Given the description of an element on the screen output the (x, y) to click on. 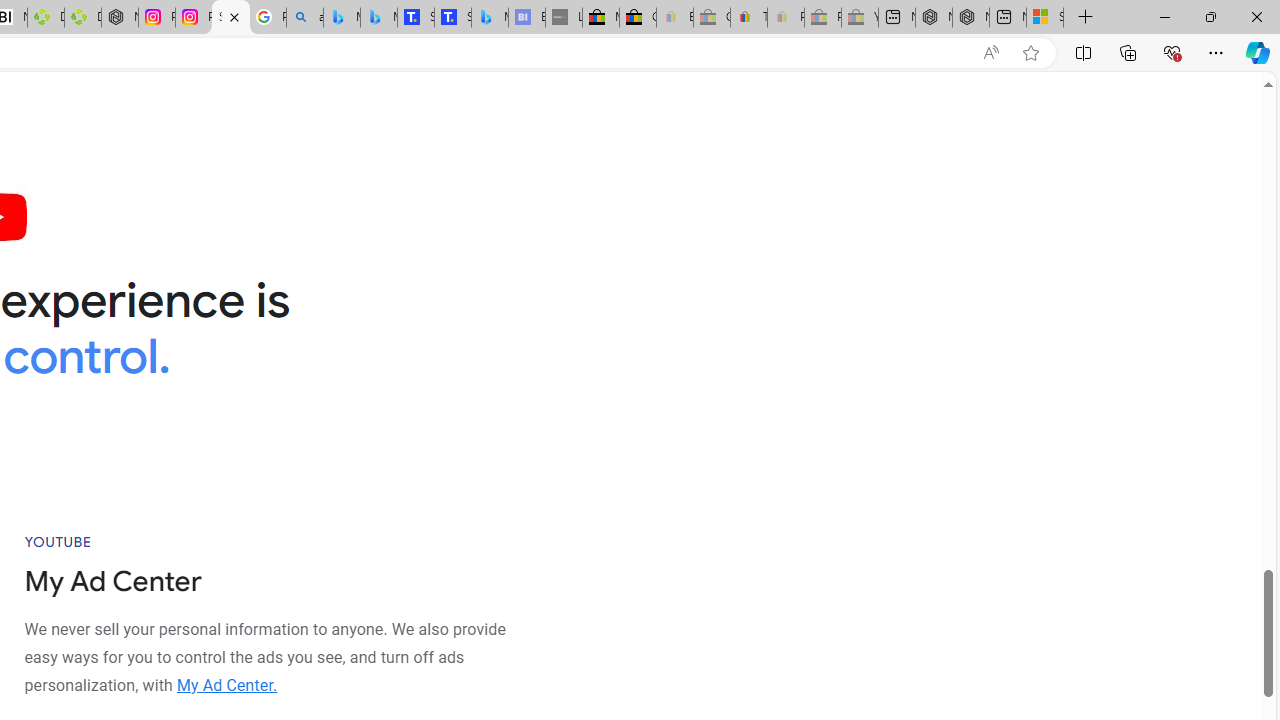
Yard, Garden & Outdoor Living - Sleeping (860, 17)
Microsoft Bing Travel - Flights from Hong Kong to Bangkok (341, 17)
Safety in Our Products - Google Safety Center (230, 17)
Threats and offensive language policy | eBay (748, 17)
